Given the description of an element on the screen output the (x, y) to click on. 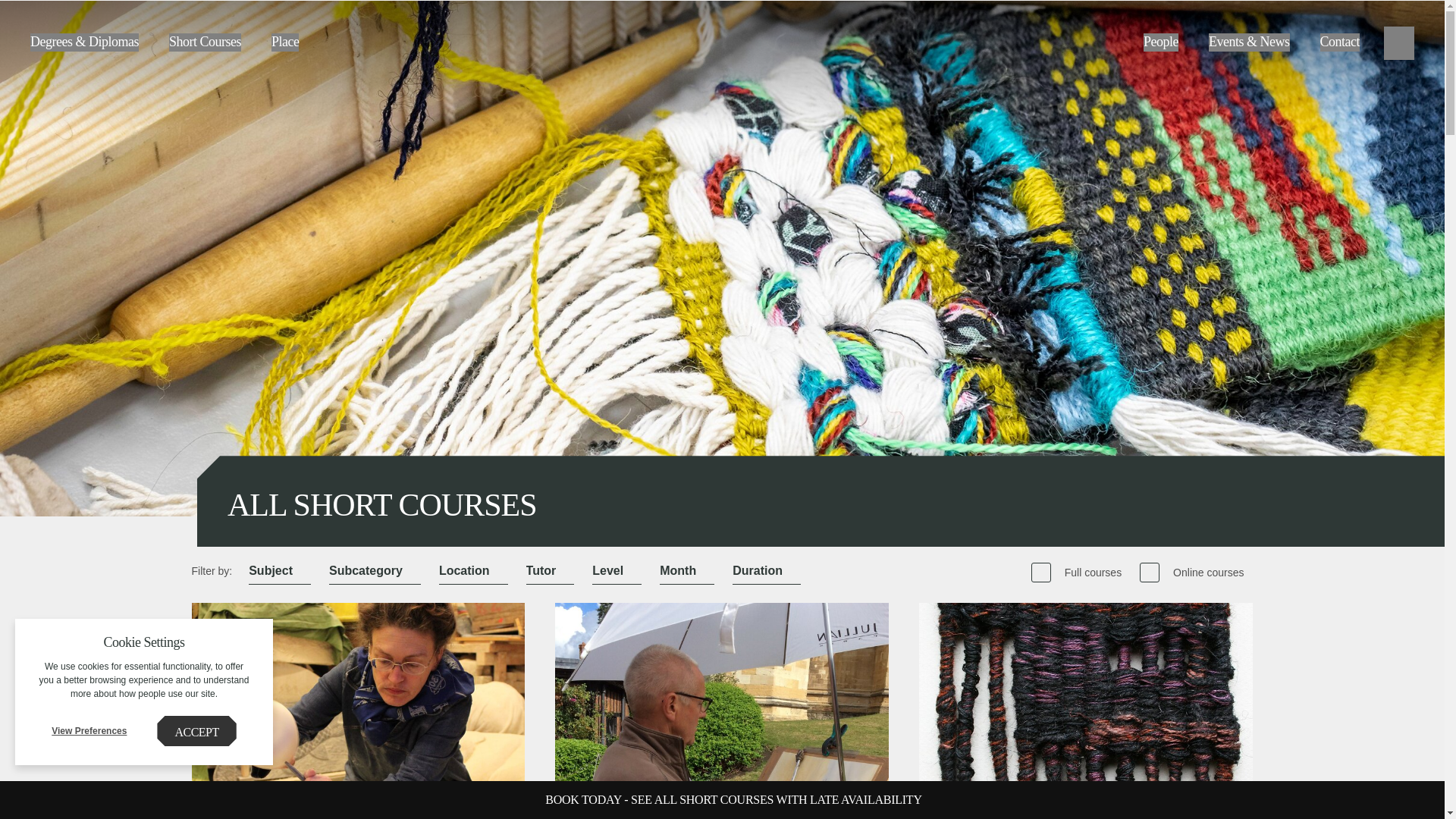
yes (1040, 572)
yes (1149, 572)
BOOK TODAY - SEE ALL SHORT COURSES WITH LATE AVAILABILITY (732, 799)
